Given the description of an element on the screen output the (x, y) to click on. 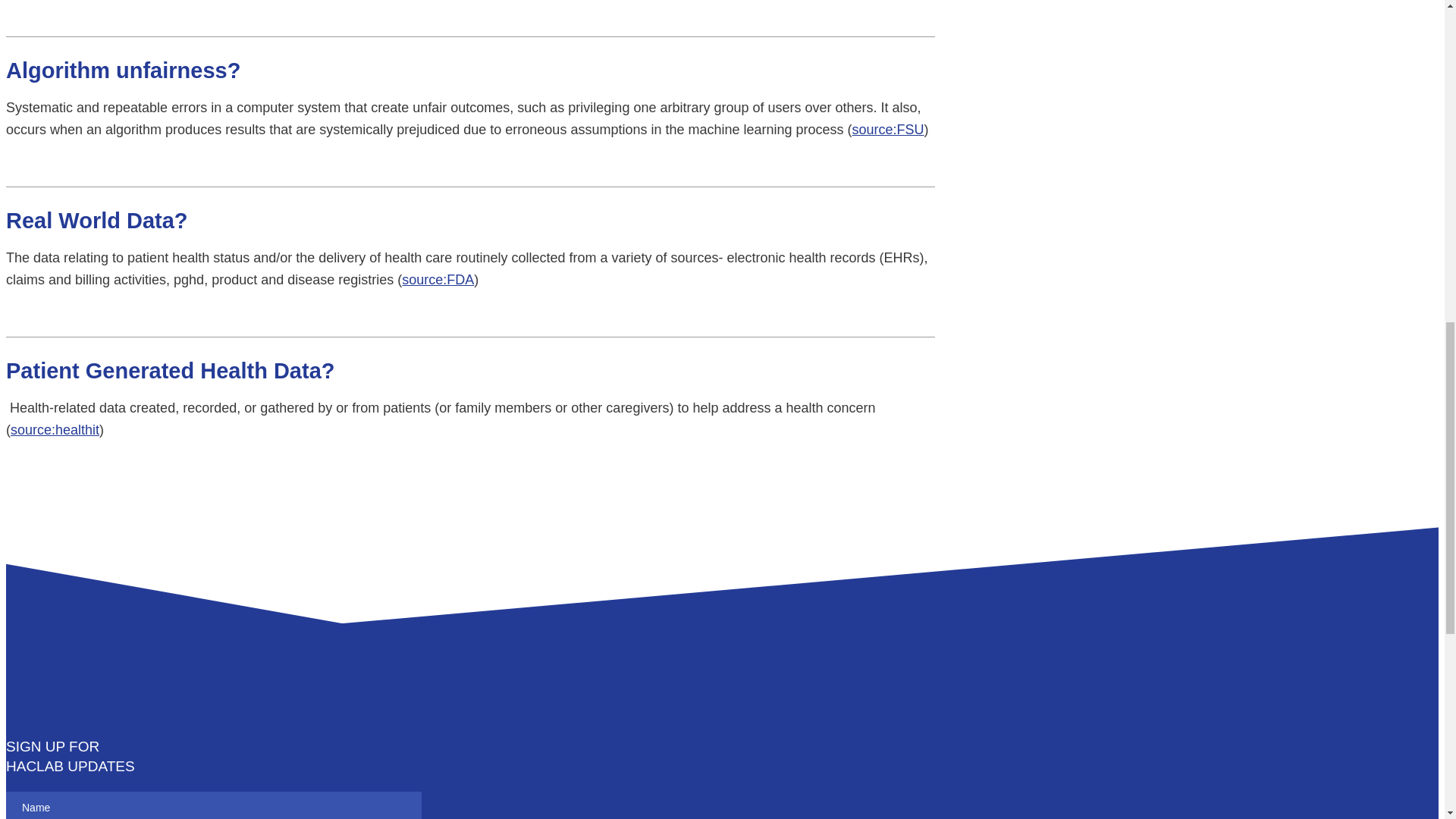
source:FDA (437, 279)
source:healthit (54, 429)
source:FSU (887, 129)
